Given the description of an element on the screen output the (x, y) to click on. 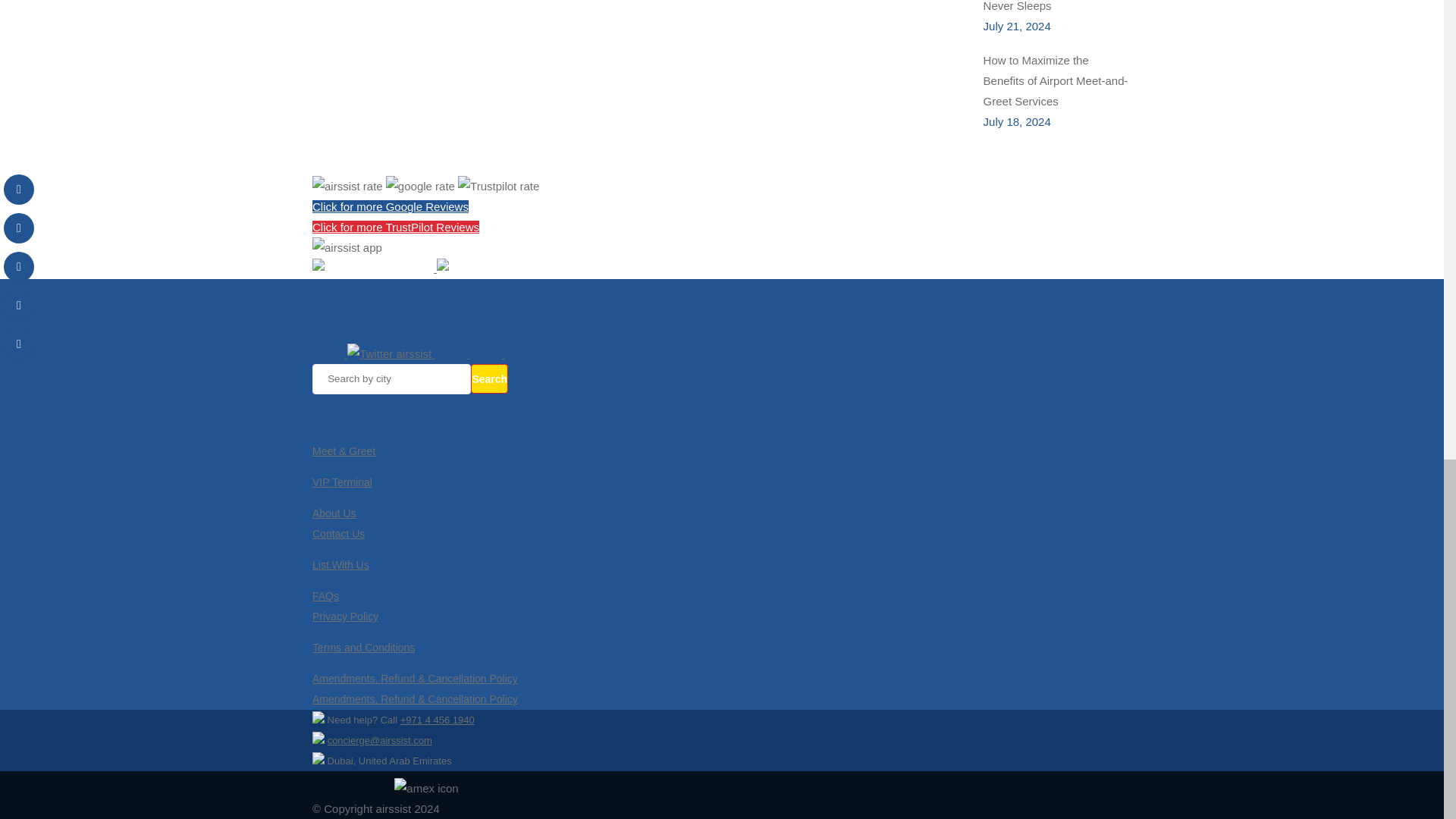
Search (489, 378)
